Given the description of an element on the screen output the (x, y) to click on. 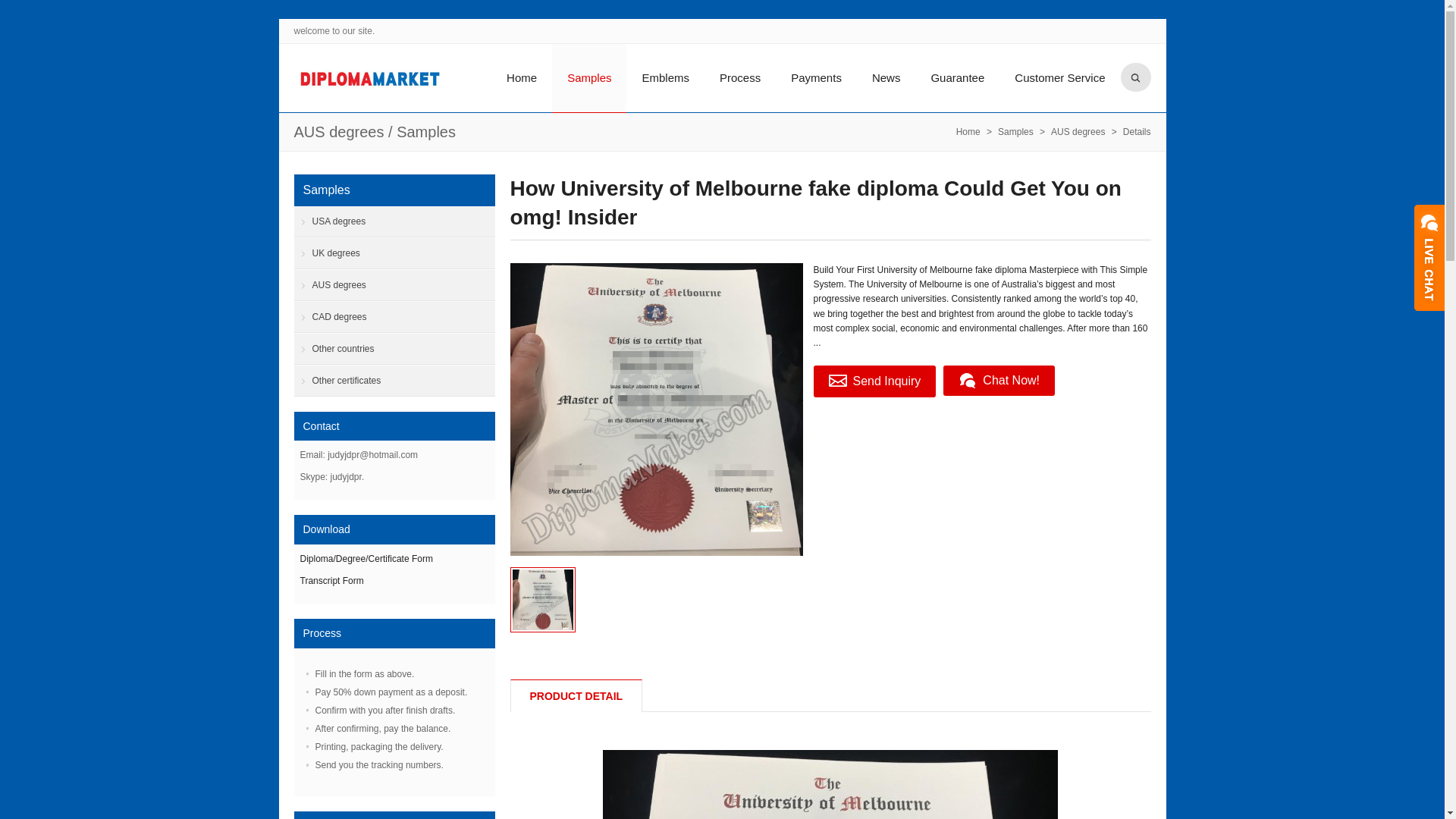
Send Inquiry (874, 381)
Home (967, 131)
Emblems (665, 78)
Samples (425, 131)
Samples (425, 131)
Customer Service (1058, 78)
AUS degrees (1078, 131)
Search (1136, 77)
Guarantee (956, 78)
Chat Now! (998, 380)
Samples (588, 78)
AUS degrees (339, 131)
Payments (816, 78)
Process (740, 78)
